Given the description of an element on the screen output the (x, y) to click on. 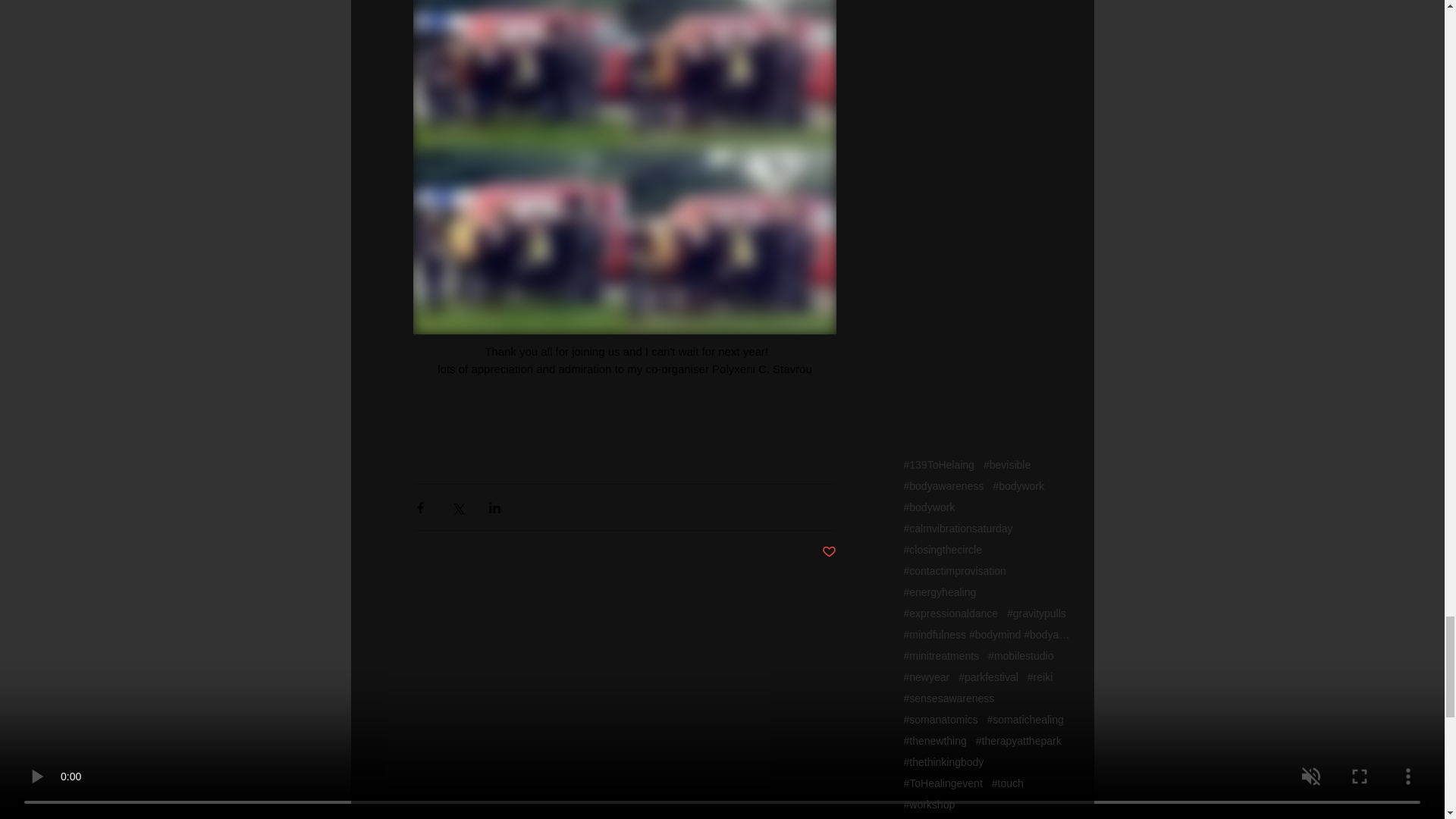
Post not marked as liked (828, 552)
